Given the description of an element on the screen output the (x, y) to click on. 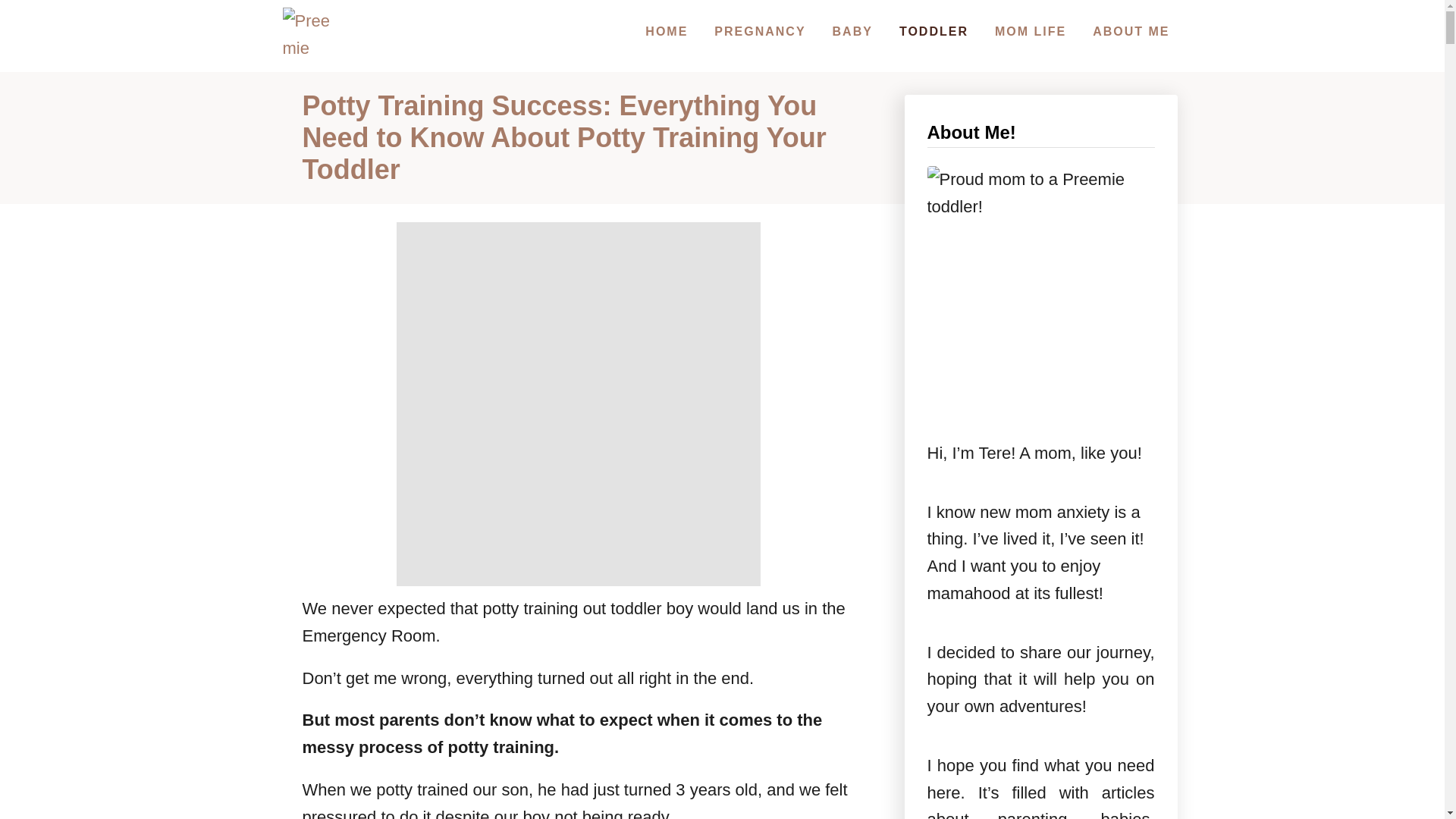
PREGNANCY (759, 31)
BABY (852, 31)
TODDLER (933, 31)
MOM LIFE (1030, 31)
Preemie Mom Tips (310, 35)
ABOUT ME (1130, 31)
HOME (666, 31)
